Given the description of an element on the screen output the (x, y) to click on. 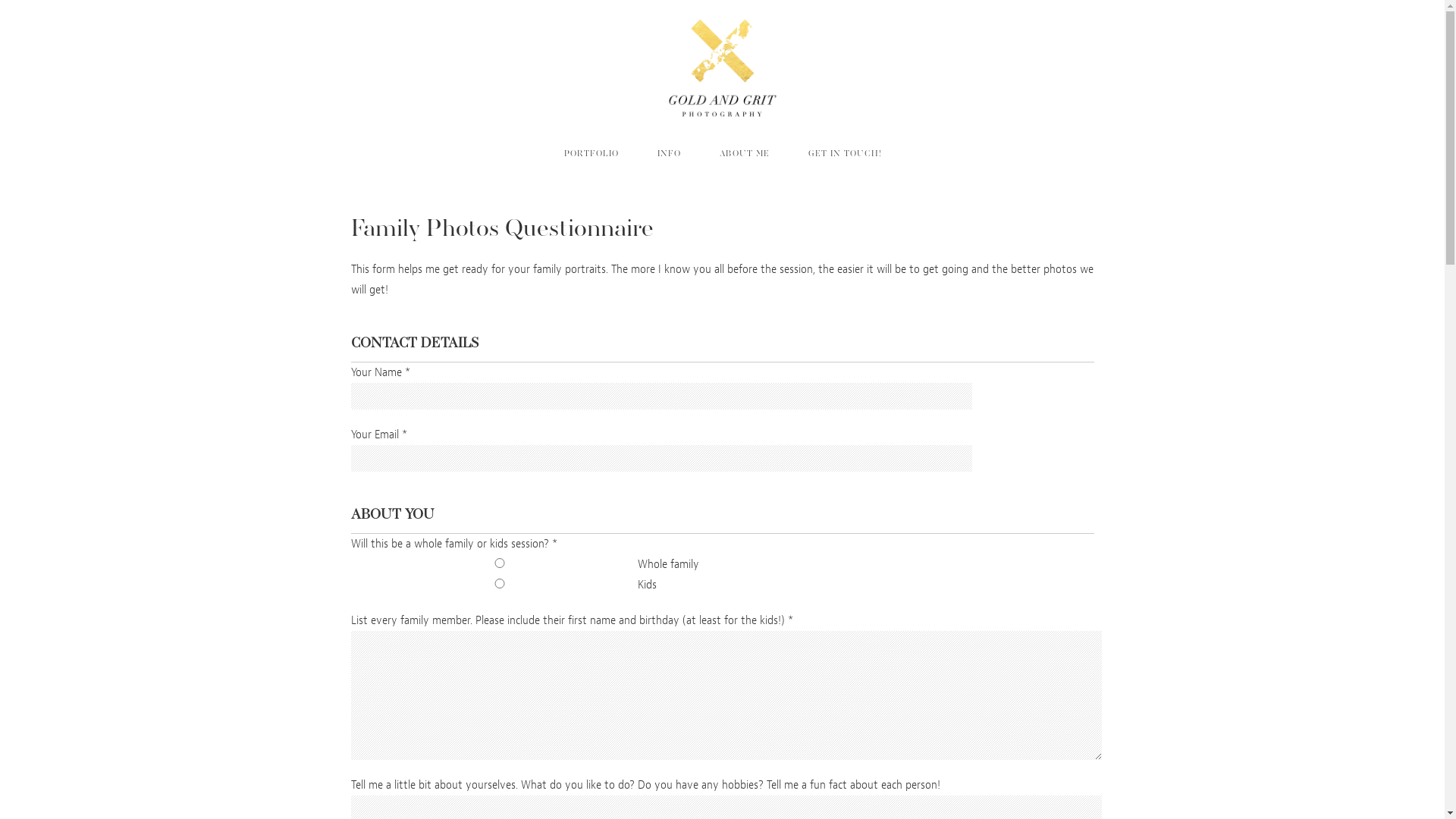
ABOUT ME Element type: text (744, 153)
INFO Element type: text (668, 153)
GET IN TOUCH! Element type: text (844, 153)
PORTFOLIO Element type: text (590, 153)
